Given the description of an element on the screen output the (x, y) to click on. 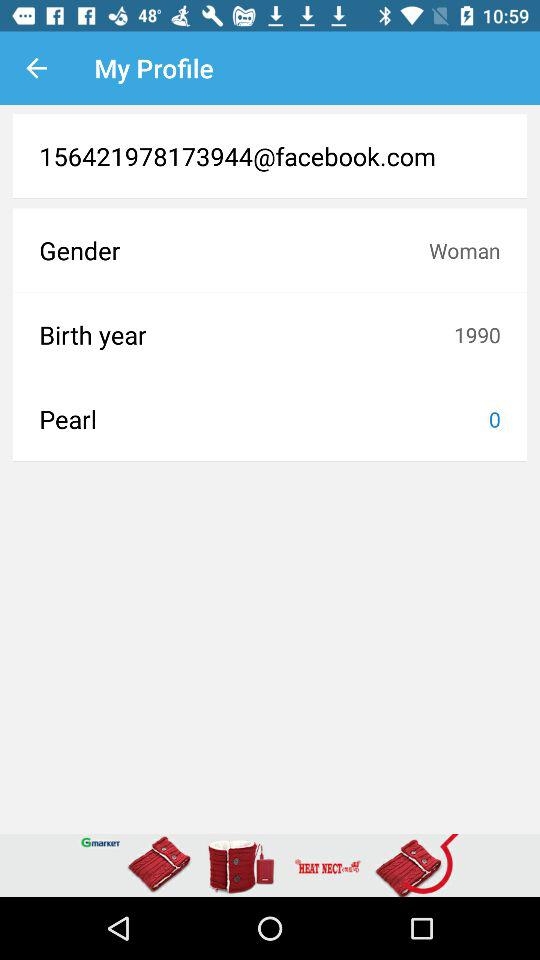
swipe to 156421978173944@facebook.com item (269, 156)
